Given the description of an element on the screen output the (x, y) to click on. 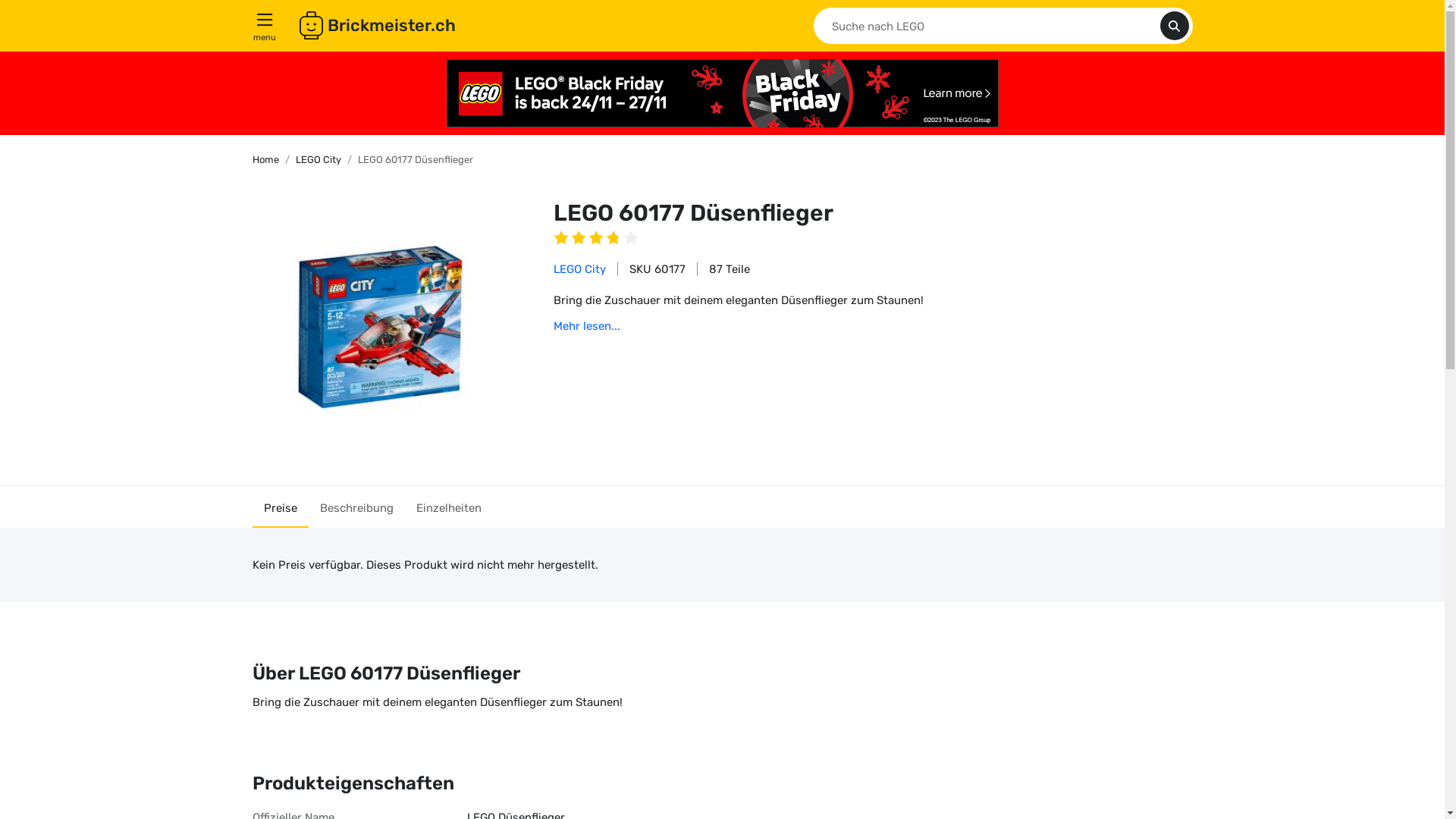
Brickmeister.ch Element type: text (376, 25)
Preise Element type: text (279, 507)
Einzelheiten Element type: text (448, 507)
Home Element type: text (264, 159)
LEGO City Element type: text (579, 269)
LEGO City Element type: text (318, 159)
Beschreibung Element type: text (355, 507)
lego 60177 dusenflieger Element type: hover (379, 327)
Mehr lesen... Element type: text (586, 325)
